Given the description of an element on the screen output the (x, y) to click on. 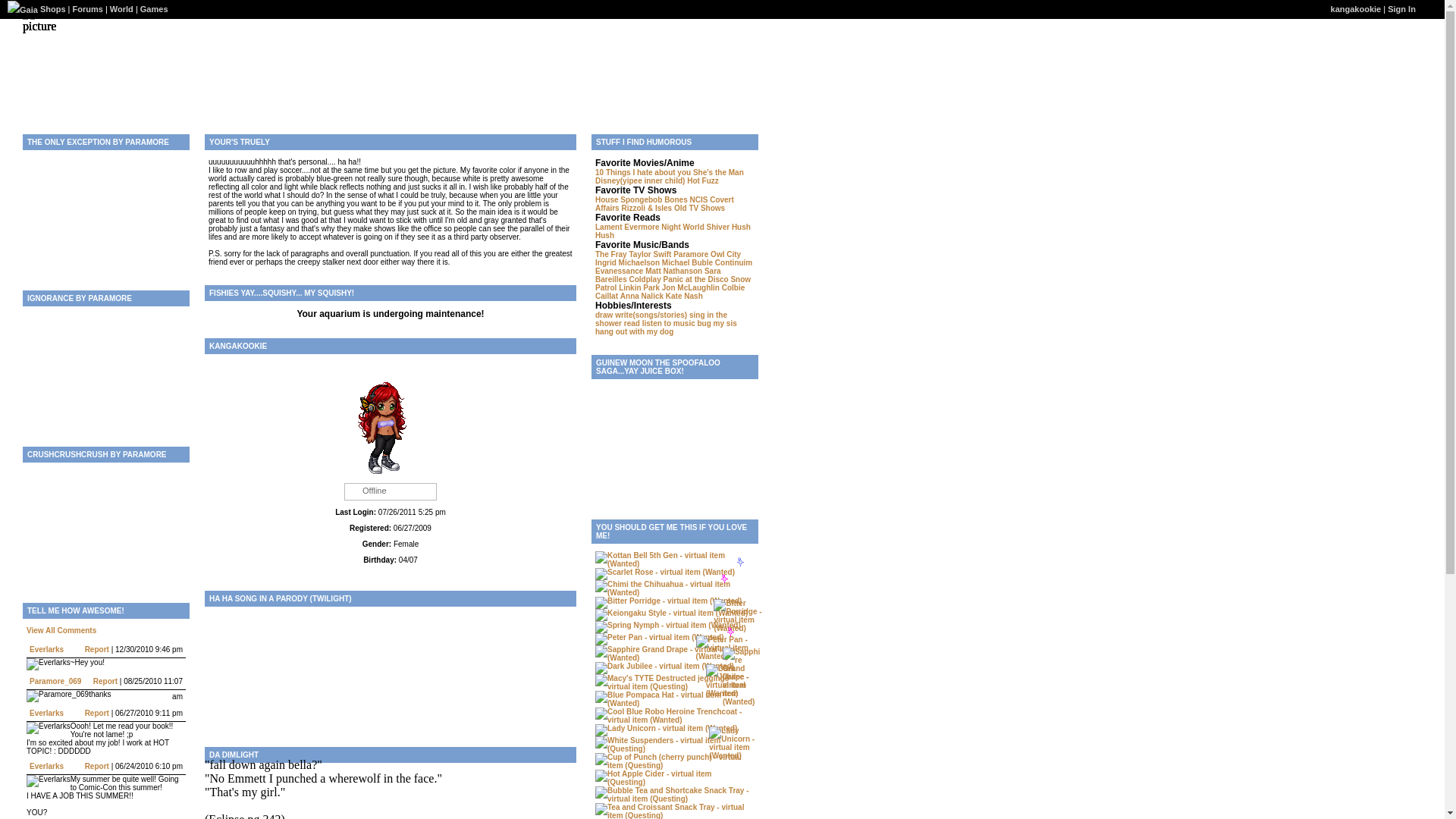
Everlarks (46, 649)
She's the Man (718, 172)
Wanted - Scarlet Rose (665, 573)
View Everlarks's Profile (46, 649)
Wanted - Chimi the Chihuahua (673, 588)
Spongebob (641, 199)
Wanted - Bitter Porridge (668, 603)
Report (96, 649)
View All Comments (61, 630)
View Everlarks's Profile (46, 766)
Sign In (1401, 8)
kangakookie (1355, 8)
Games (153, 8)
Report (96, 766)
Old TV Shows (699, 207)
